Given the description of an element on the screen output the (x, y) to click on. 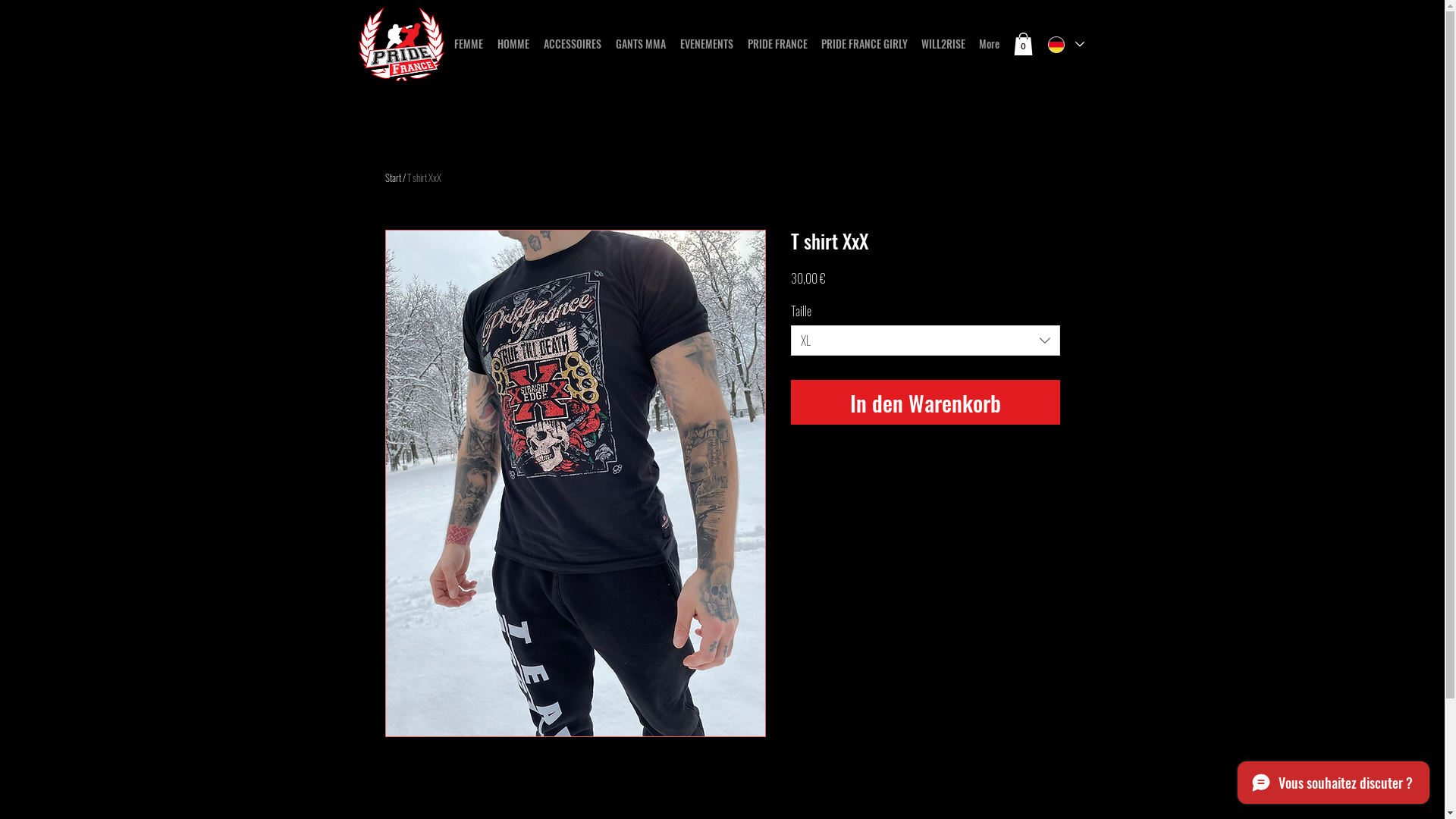
HOMME Element type: text (516, 43)
WILL2RISE Element type: text (945, 43)
In den Warenkorb Element type: text (924, 402)
FEMME Element type: text (471, 43)
T shirt XxX Element type: text (423, 177)
XL Element type: text (924, 340)
Start Element type: text (393, 177)
PRIDE FRANCE Element type: text (780, 43)
0 Element type: text (1022, 43)
GANTS MMA Element type: text (643, 43)
Pridefrancelogo.png Element type: hover (400, 44)
PRIDE FRANCE GIRLY Element type: text (866, 43)
ACCESSOIRES Element type: text (574, 43)
EVENEMENTS Element type: text (709, 43)
